Given the description of an element on the screen output the (x, y) to click on. 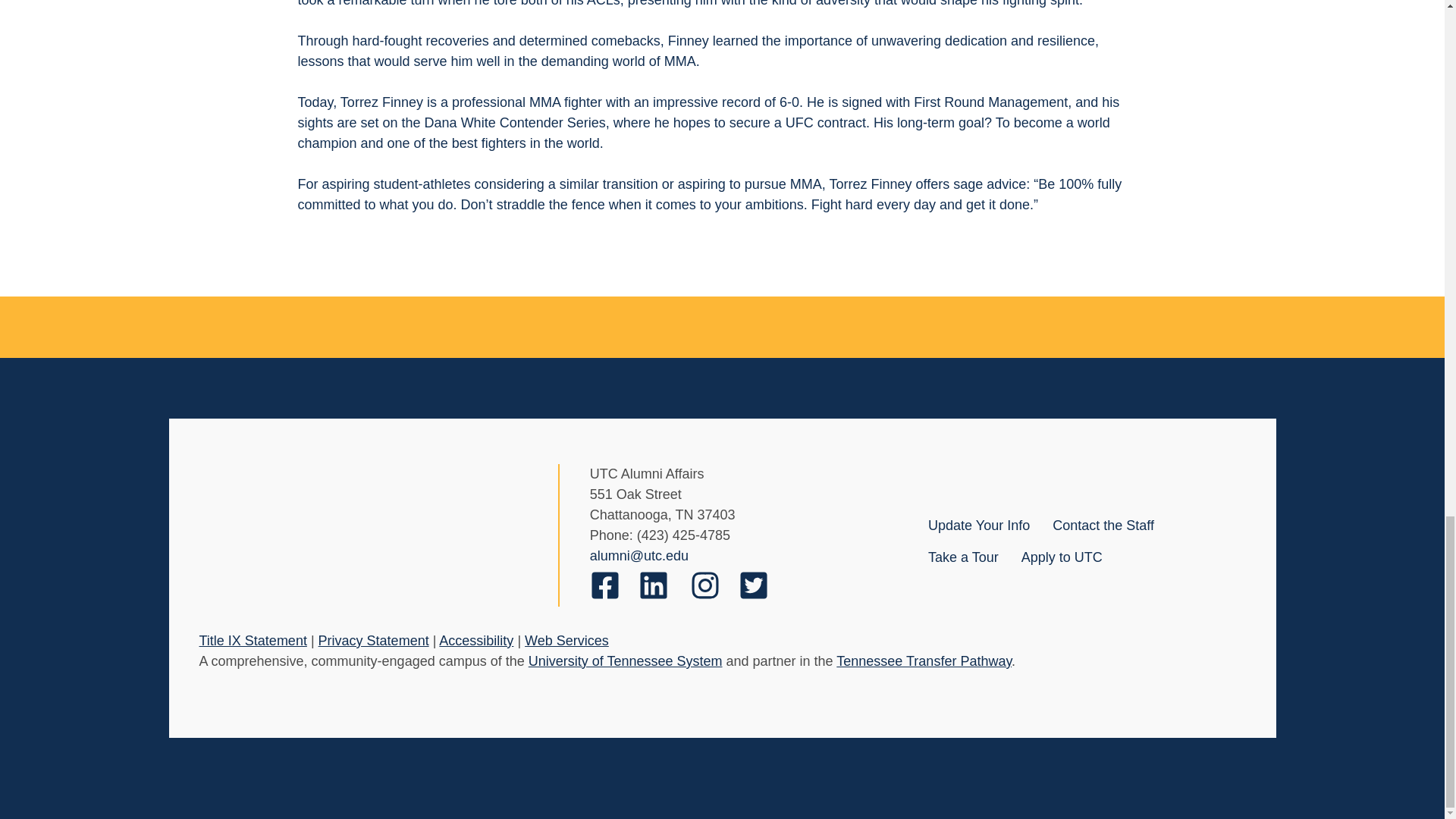
utc-horizontal-web (362, 547)
Web Services (566, 640)
Take a Tour (963, 557)
Tennessee Transfer Pathway (923, 661)
University of Tennessee System (625, 661)
Title IX Statement (251, 640)
Accessibility (476, 640)
Contact the Staff (1103, 525)
Apply to UTC (1062, 557)
Update Your Info (978, 525)
Privacy Statement (373, 640)
